Given the description of an element on the screen output the (x, y) to click on. 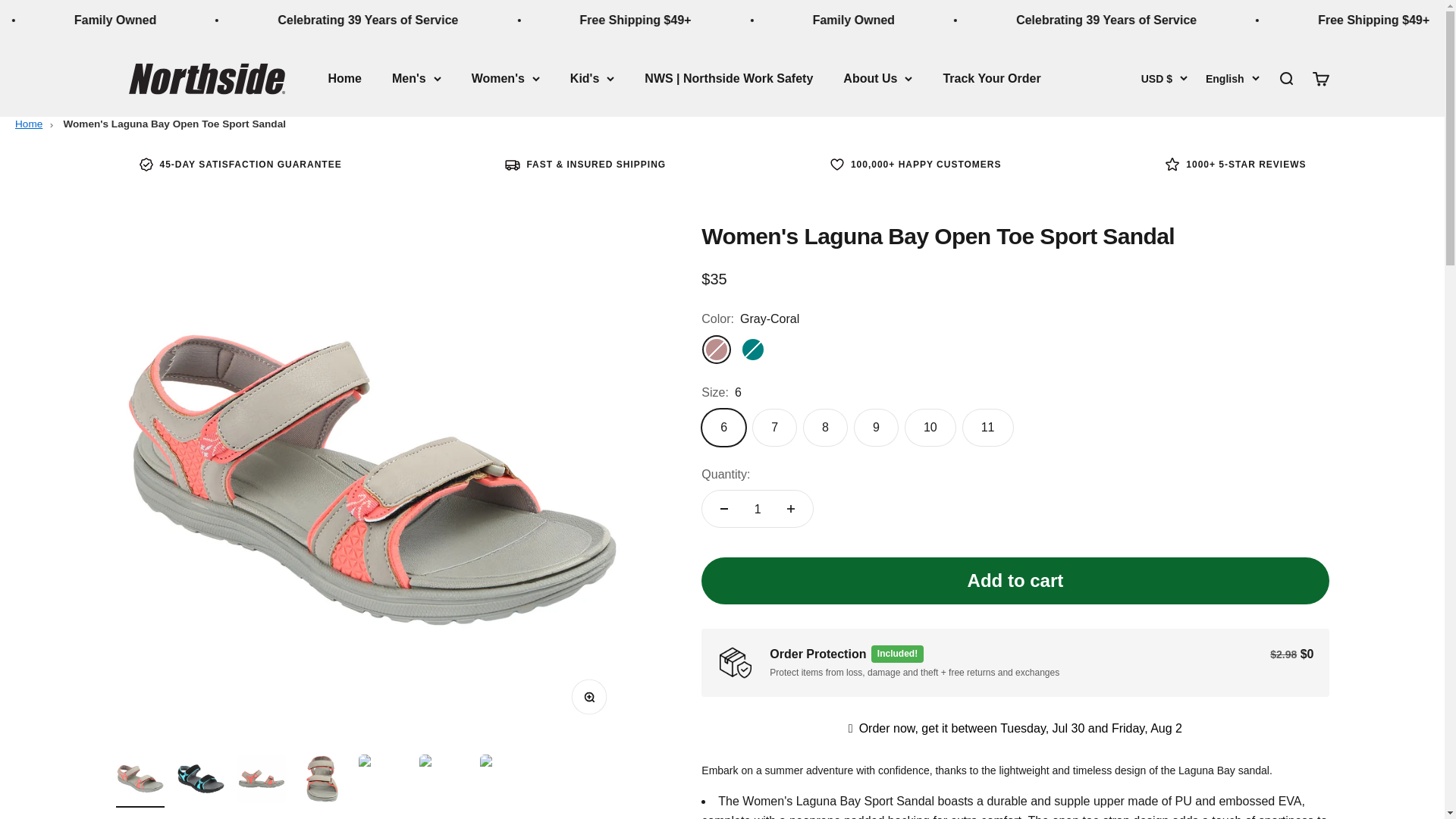
Track Your Order (991, 78)
Northside USA (206, 78)
Home (344, 78)
Women's Laguna Bay Open Toe Sport Sandal (173, 123)
Home (28, 123)
